Given the description of an element on the screen output the (x, y) to click on. 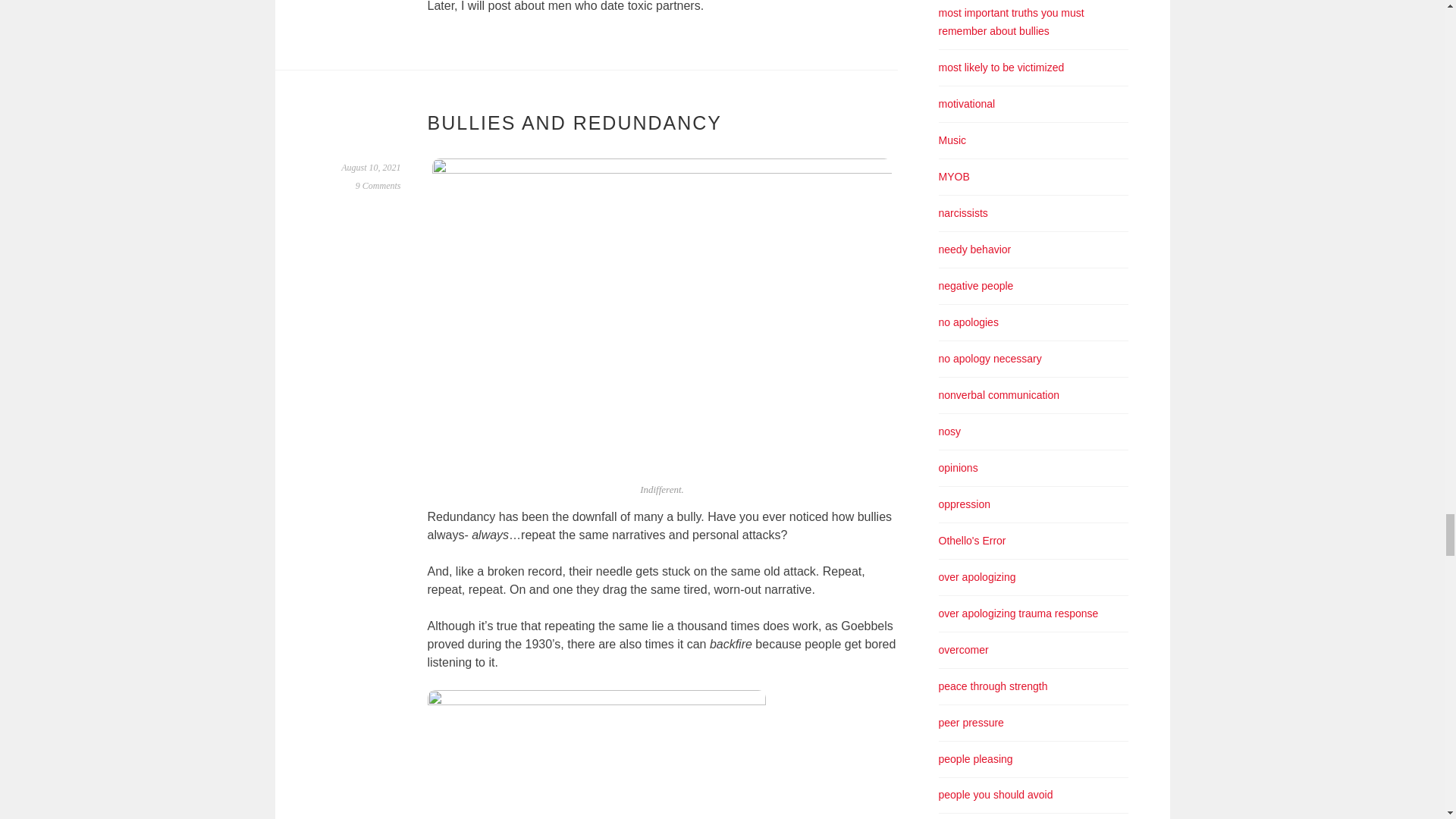
Permalink to Bullies and Redundancy (370, 167)
August 10, 2021 (370, 167)
BULLIES AND REDUNDANCY (575, 122)
9 Comments (378, 185)
